Given the description of an element on the screen output the (x, y) to click on. 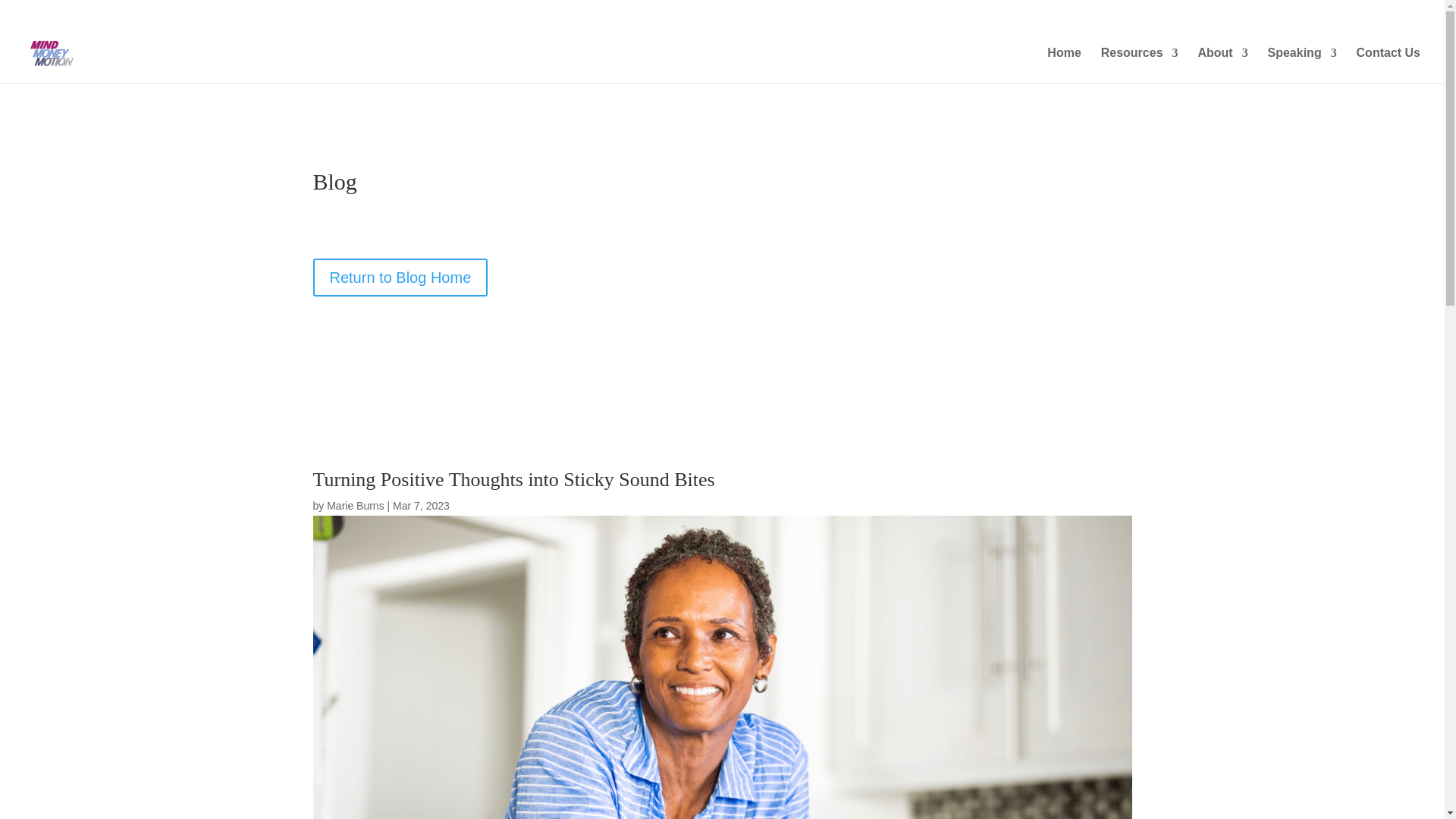
Return to Blog Home (400, 277)
0 Items (1396, 10)
About (1221, 65)
Speaking (1302, 65)
Posts by Marie Burns (355, 505)
Log in (1343, 15)
Marie Burns (355, 505)
Contact Us (1388, 65)
Home (1063, 65)
Resources (1138, 65)
